Given the description of an element on the screen output the (x, y) to click on. 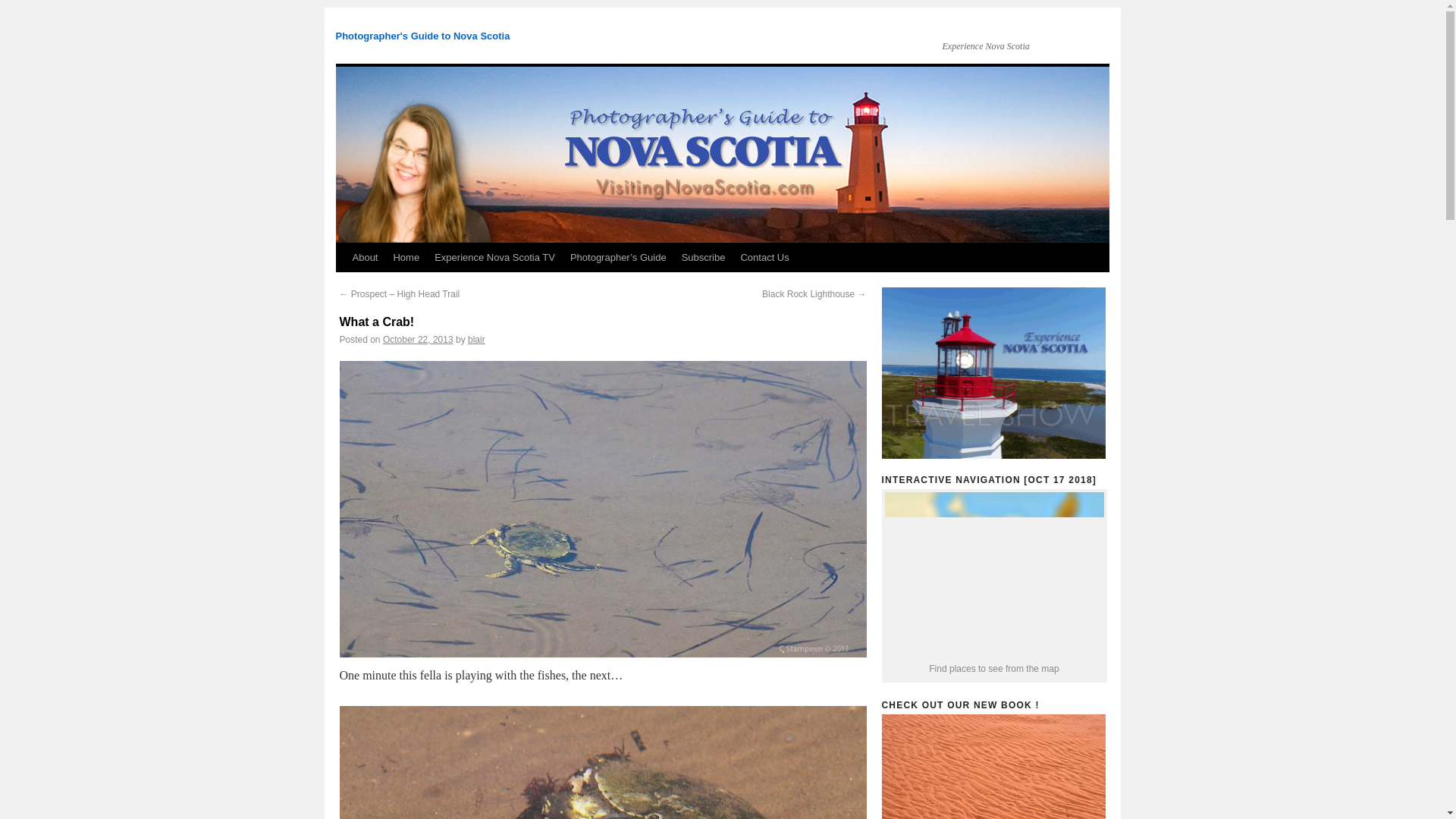
blair (475, 339)
October 22, 2013 (417, 339)
Contact Us (764, 257)
Experience Nova Scotia TV (494, 257)
View all posts by blair (475, 339)
Subscribe (703, 257)
12:01 pm (417, 339)
Home (405, 257)
About (364, 257)
Photographer's Guide to Nova Scotia (421, 35)
